Given the description of an element on the screen output the (x, y) to click on. 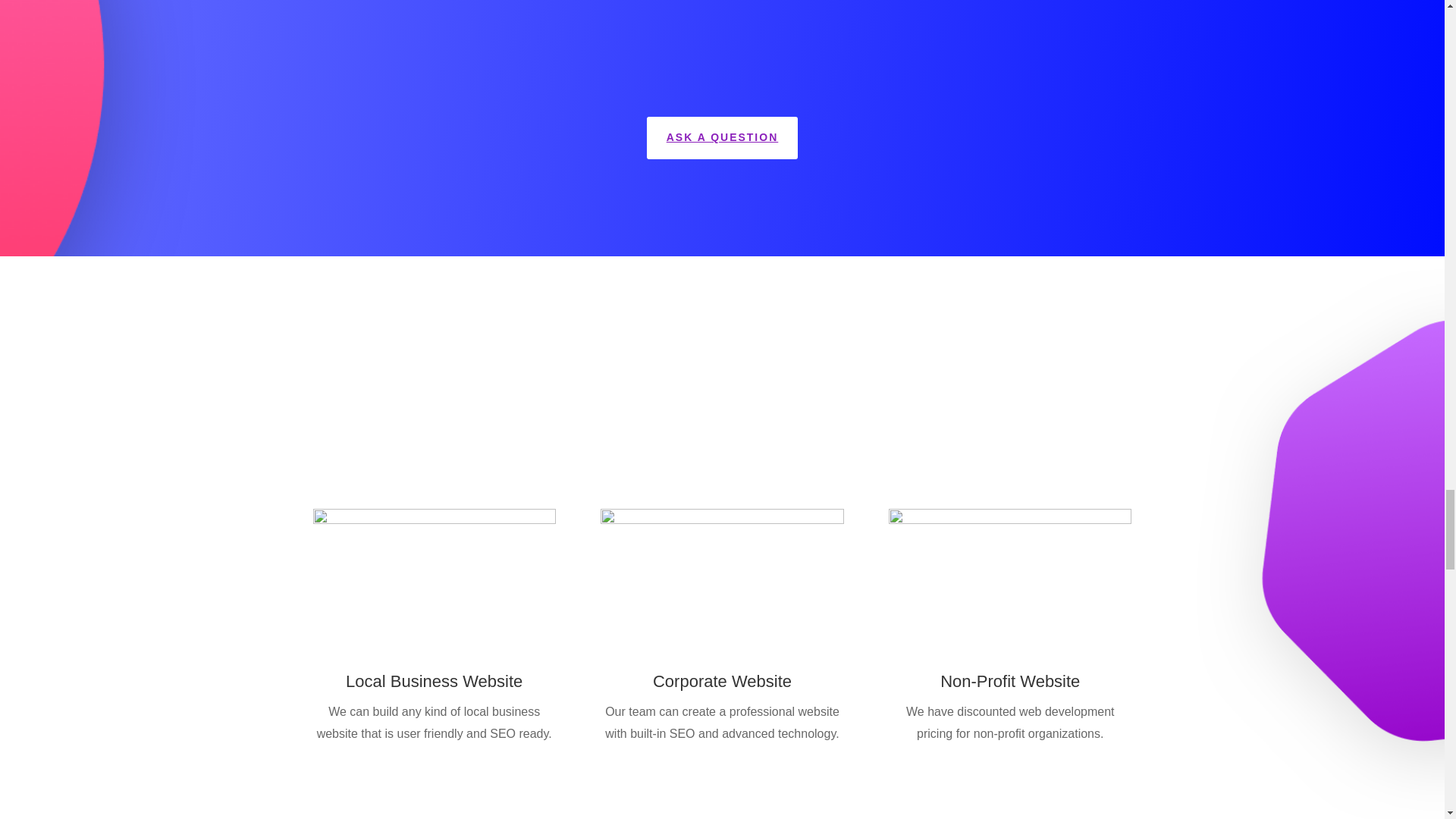
ASK A QUESTION (721, 137)
